Given the description of an element on the screen output the (x, y) to click on. 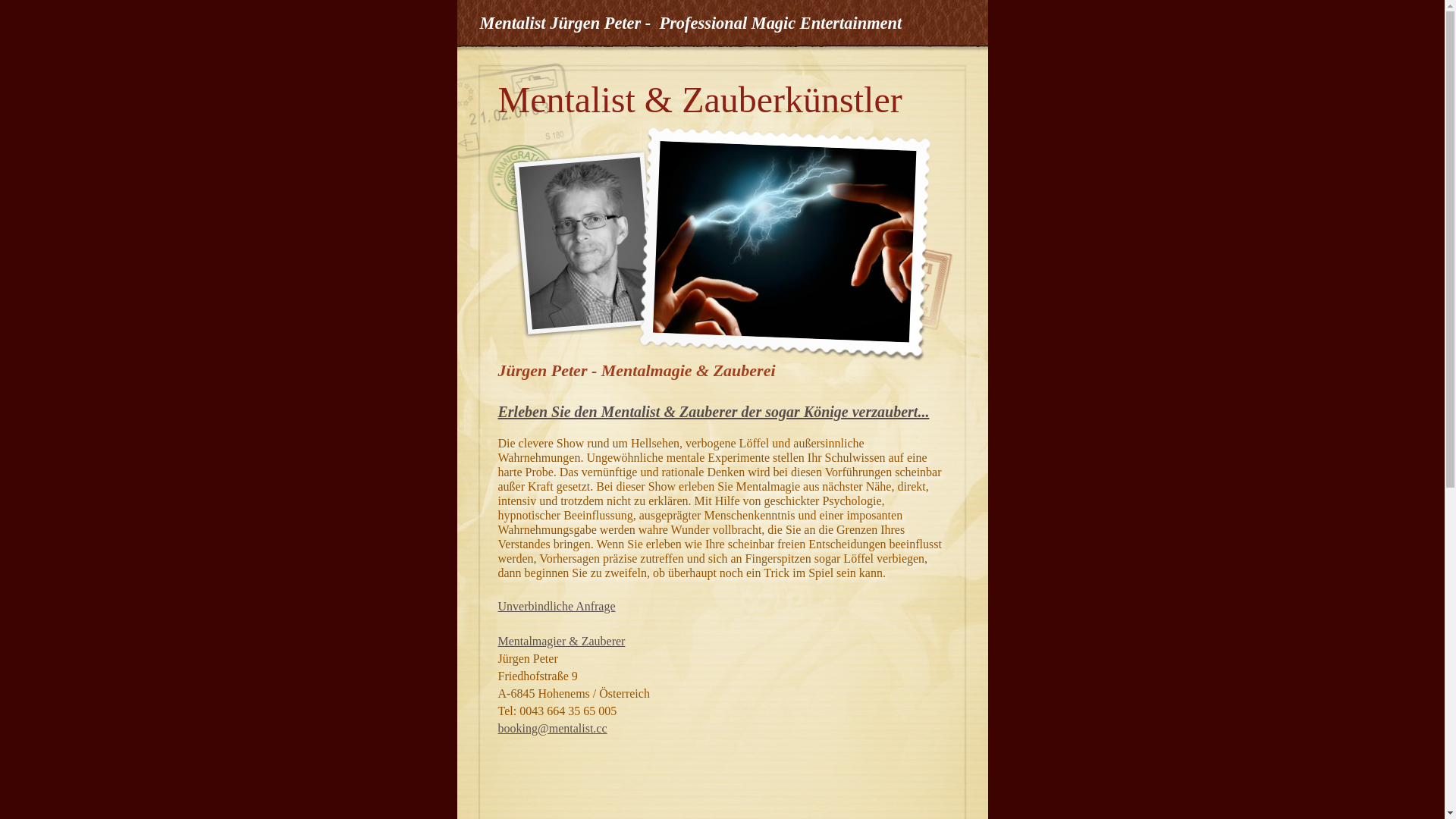
booking@mentalist.cc Element type: text (551, 727)
Unverbindliche Anfrage Element type: text (556, 605)
Mentalmagier & Zauberer Element type: text (560, 640)
